Given the description of an element on the screen output the (x, y) to click on. 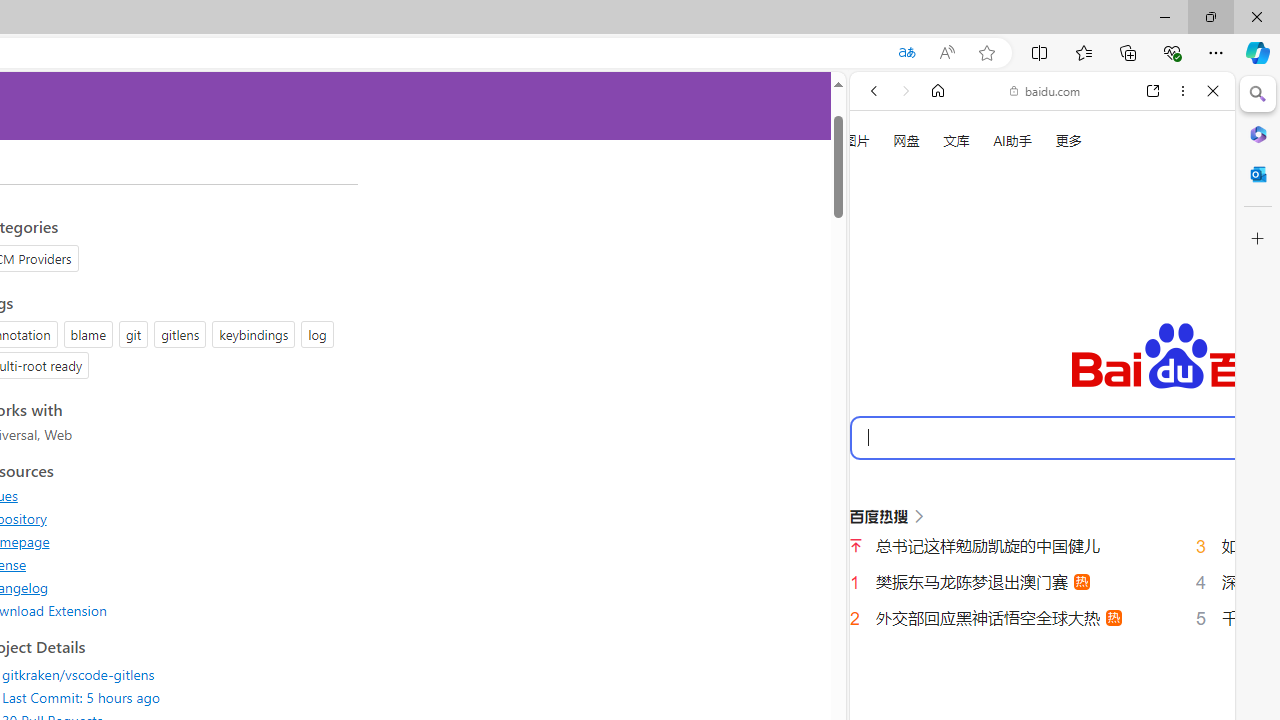
English (US) (1042, 579)
OF | English meaning - Cambridge Dictionary (1034, 419)
English (Uk) (1042, 628)
English (Uk) (1042, 622)
Cambridge Dictionary (1034, 698)
Microsoft 365 (1258, 133)
Translated (906, 53)
More options (1182, 91)
